Given the description of an element on the screen output the (x, y) to click on. 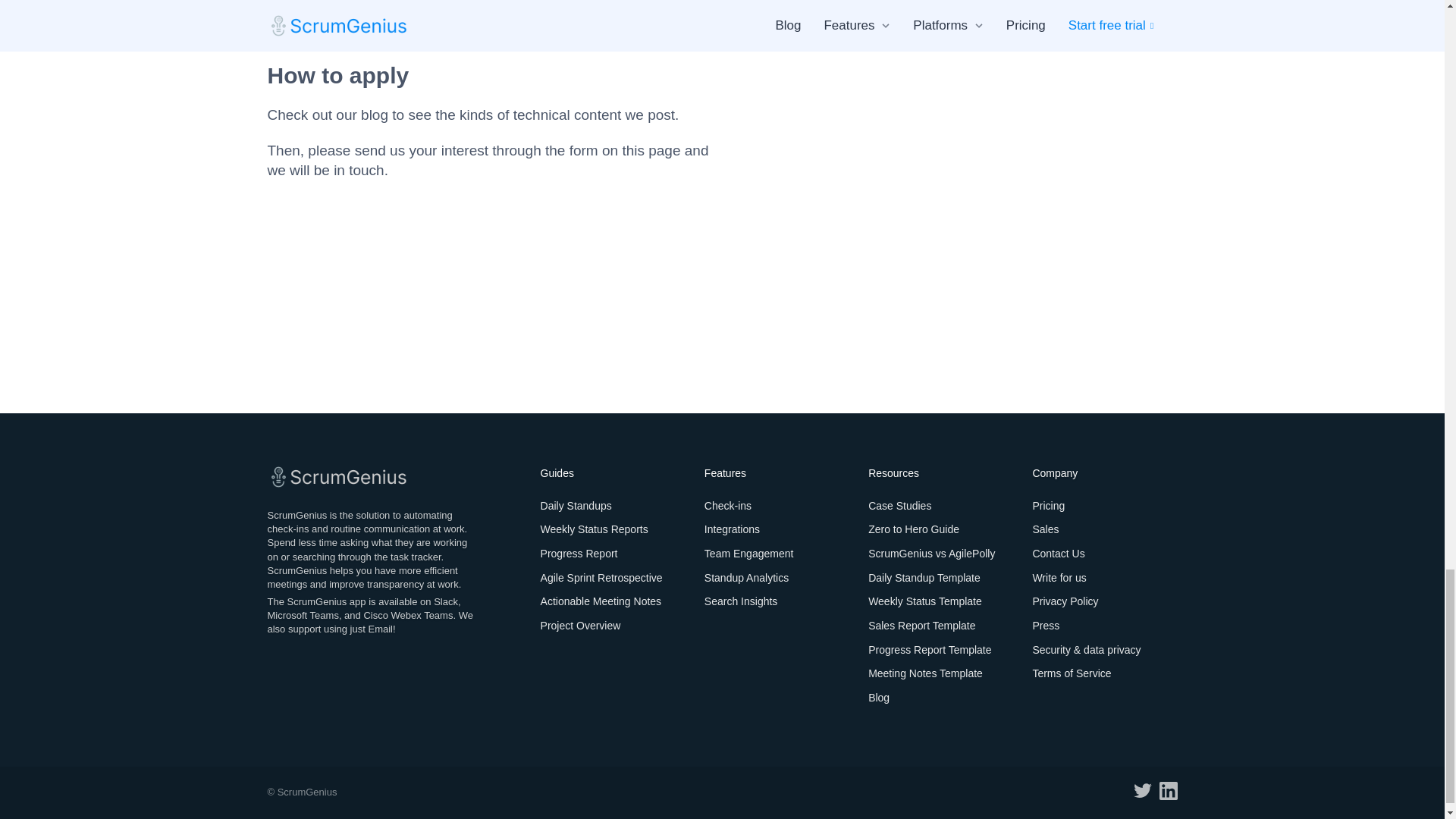
Daily Standups (575, 505)
Check-ins (727, 505)
Integrations (732, 529)
Project Overview (580, 625)
Agile Sprint Retrospective (601, 577)
Progress Report (578, 553)
Weekly Status Reports (593, 529)
Actionable Meeting Notes (601, 601)
